Given the description of an element on the screen output the (x, y) to click on. 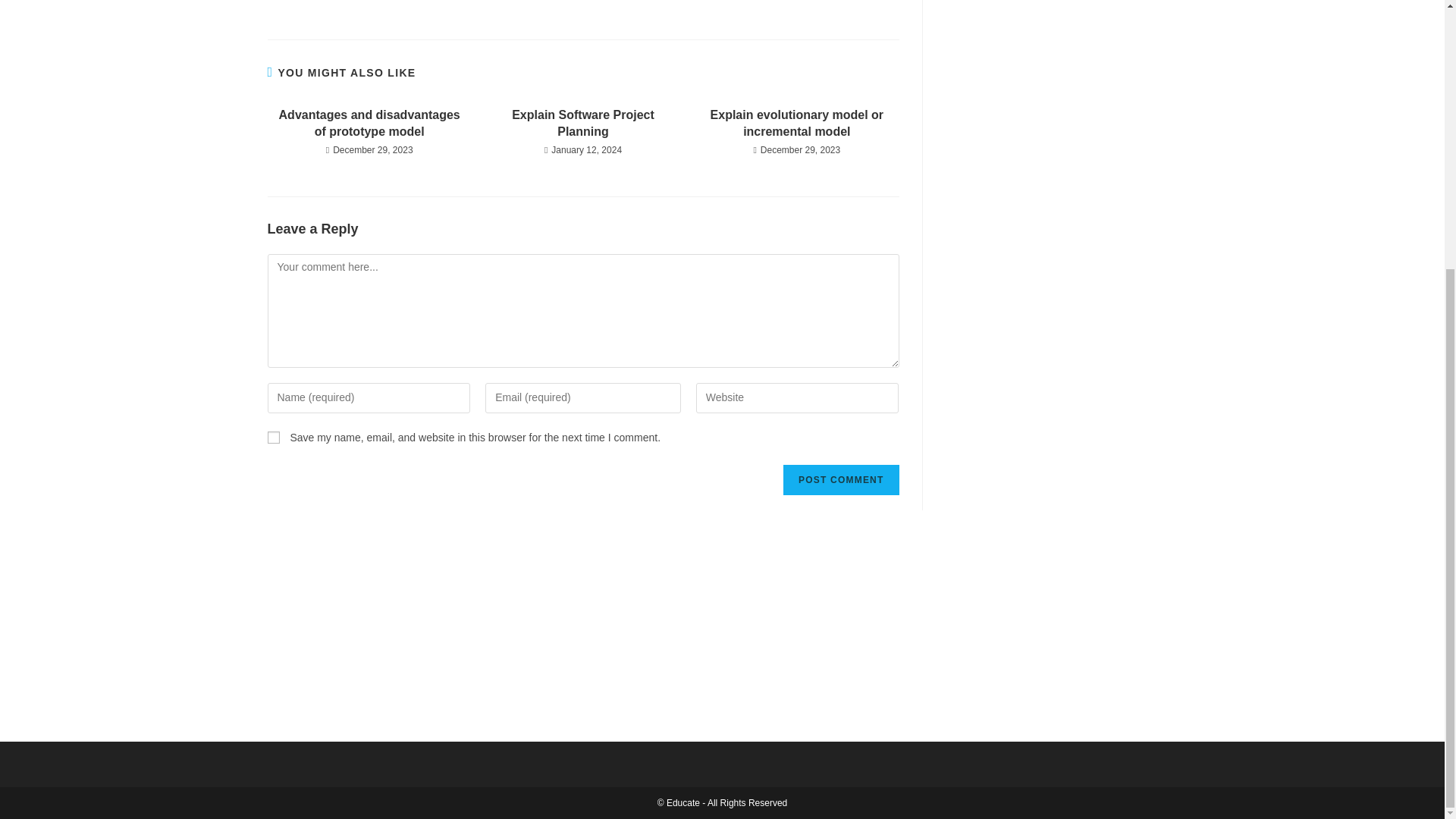
Post Comment (840, 480)
Post Comment (840, 480)
Explain Software Project Planning (582, 123)
Explain evolutionary model or incremental model (796, 123)
Advantages and disadvantages of prototype model (368, 123)
Advertisement (1058, 94)
yes (272, 437)
